Given the description of an element on the screen output the (x, y) to click on. 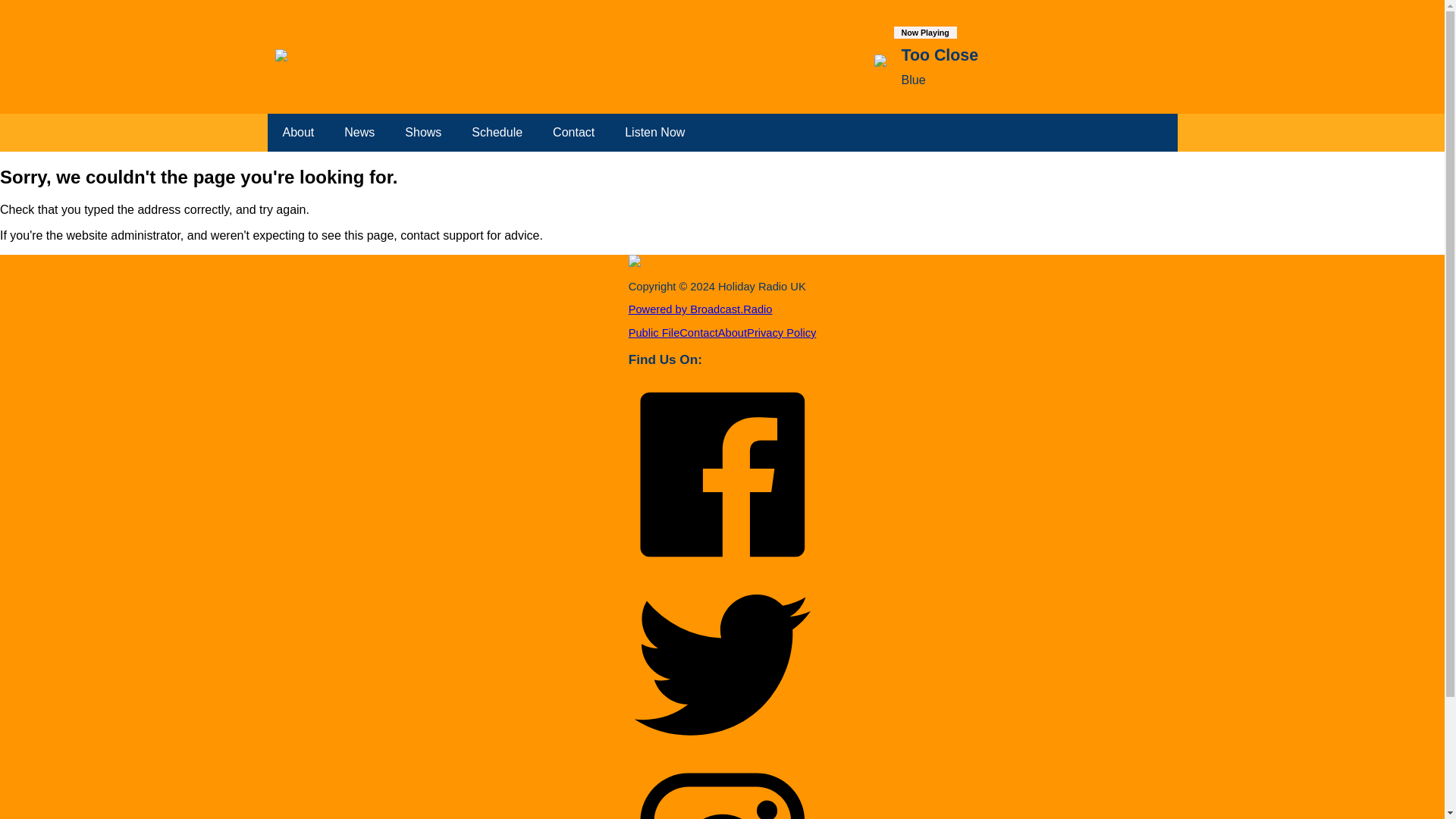
About (297, 132)
News (359, 132)
Shows (423, 132)
Schedule (497, 132)
Public File (653, 332)
Listen Now (655, 132)
Powered by Broadcast.Radio (700, 309)
News (359, 132)
About (297, 132)
Privacy Policy (780, 332)
Contact (573, 132)
Shows (423, 132)
Contact (573, 132)
Listen Now (655, 132)
Contact (698, 332)
